Given the description of an element on the screen output the (x, y) to click on. 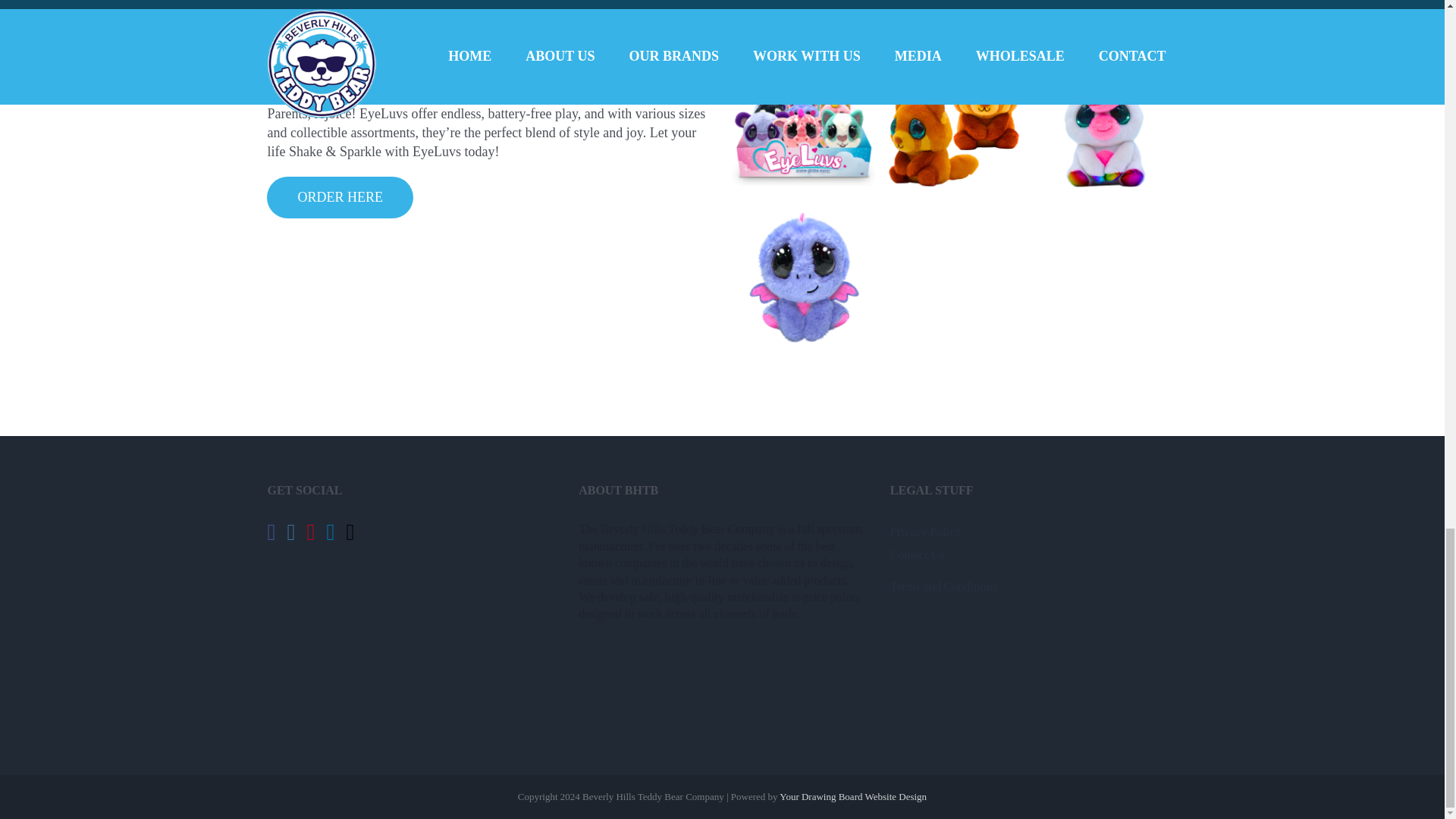
picture eyeluvs (1104, 118)
ORDER HERE (339, 197)
EyeLuvs (953, 118)
